Given the description of an element on the screen output the (x, y) to click on. 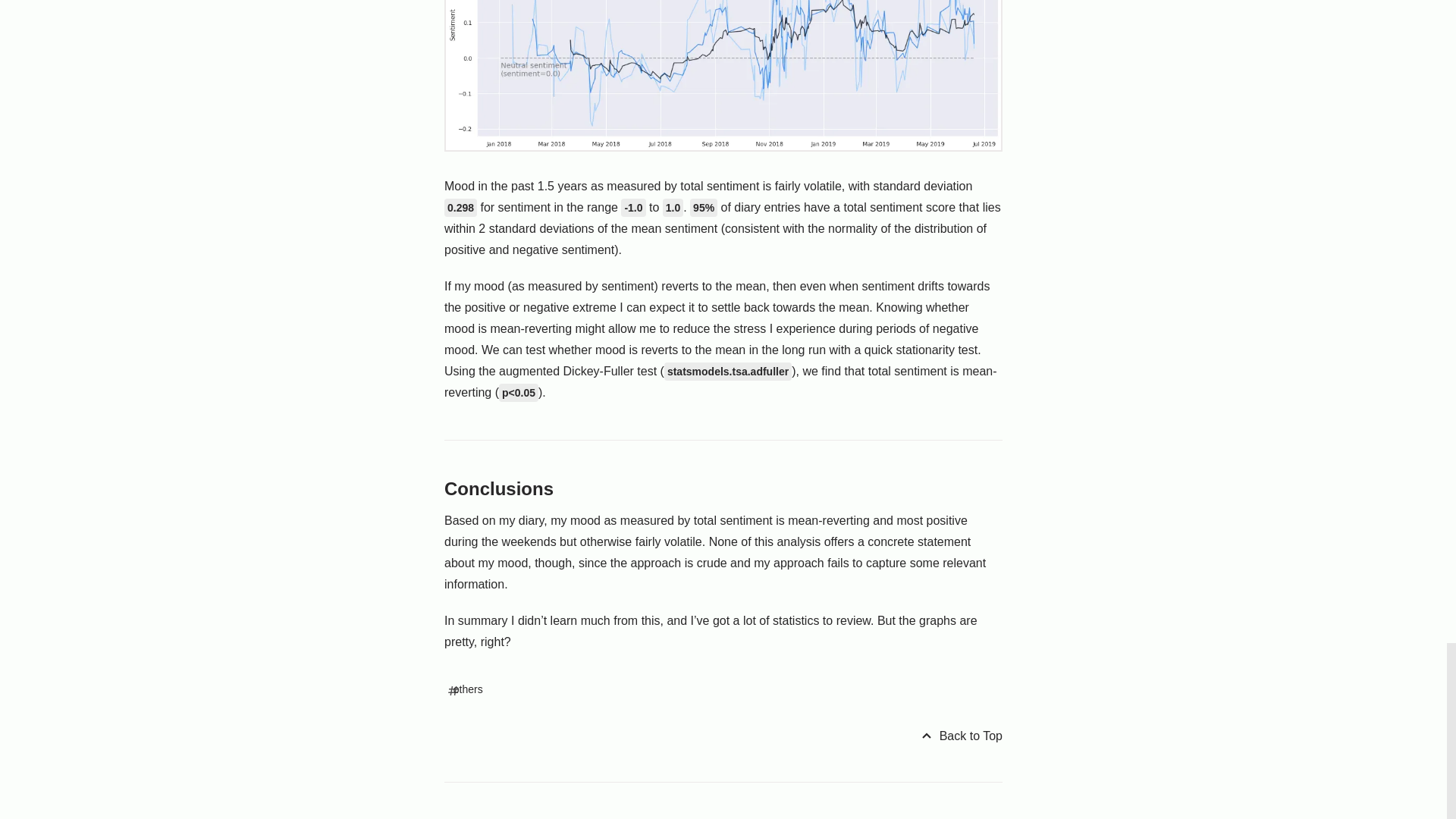
 others (466, 689)
Back to Top (960, 736)
